Given the description of an element on the screen output the (x, y) to click on. 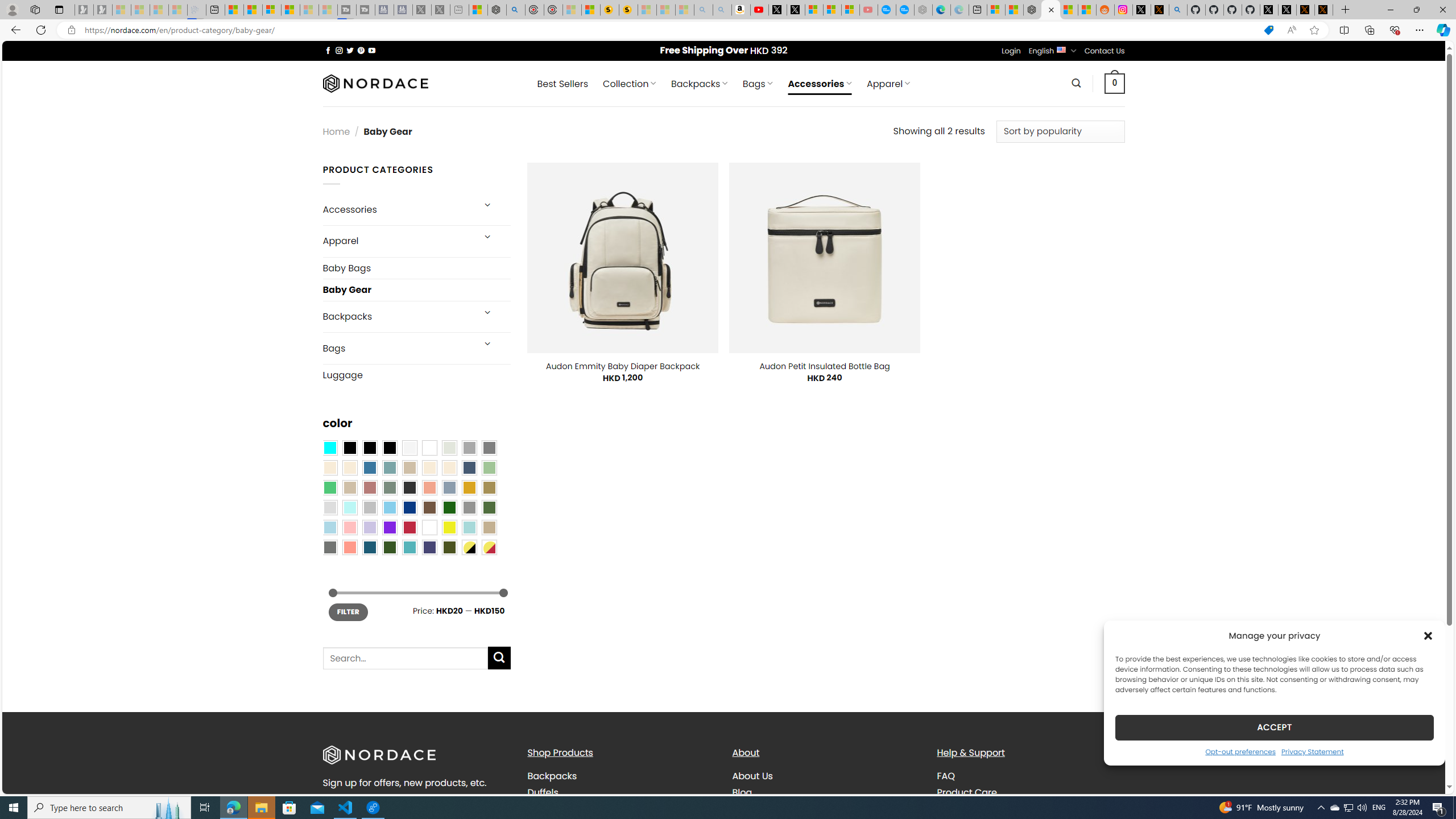
About Us (826, 776)
Follow on Twitter (349, 49)
White (429, 527)
FAQ (945, 775)
Emerald Green (329, 487)
X Privacy Policy (1324, 9)
Brownie (408, 467)
